Given the description of an element on the screen output the (x, y) to click on. 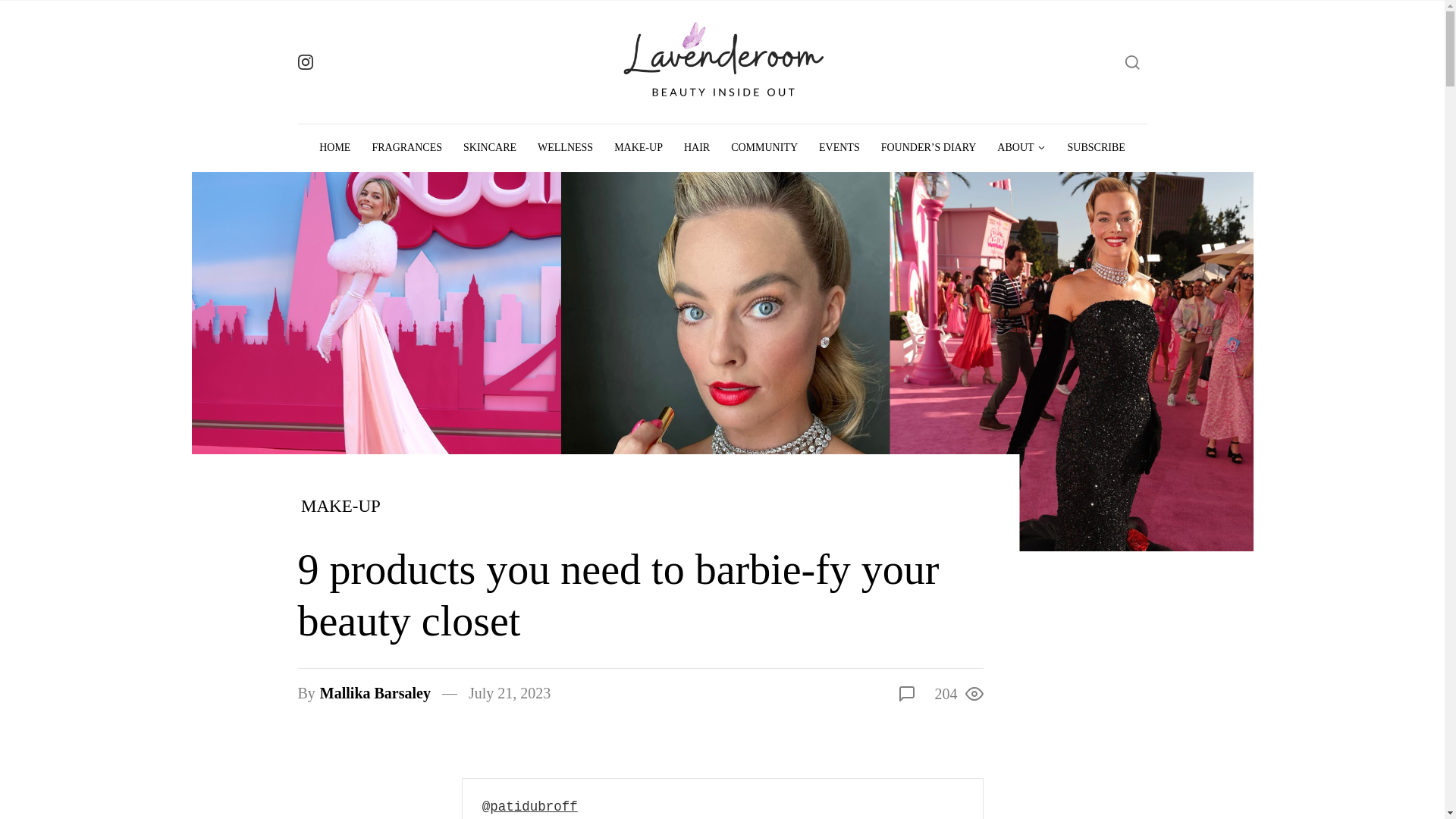
FRAGRANCES (406, 147)
MAKE-UP (341, 507)
HOME (334, 147)
COMMUNITY (764, 147)
EVENTS (839, 147)
WELLNESS (565, 147)
Posts by Mallika Barsaley (375, 692)
SKINCARE (489, 147)
SUBSCRIBE (1096, 147)
View all posts in Make-up (341, 507)
